Given the description of an element on the screen output the (x, y) to click on. 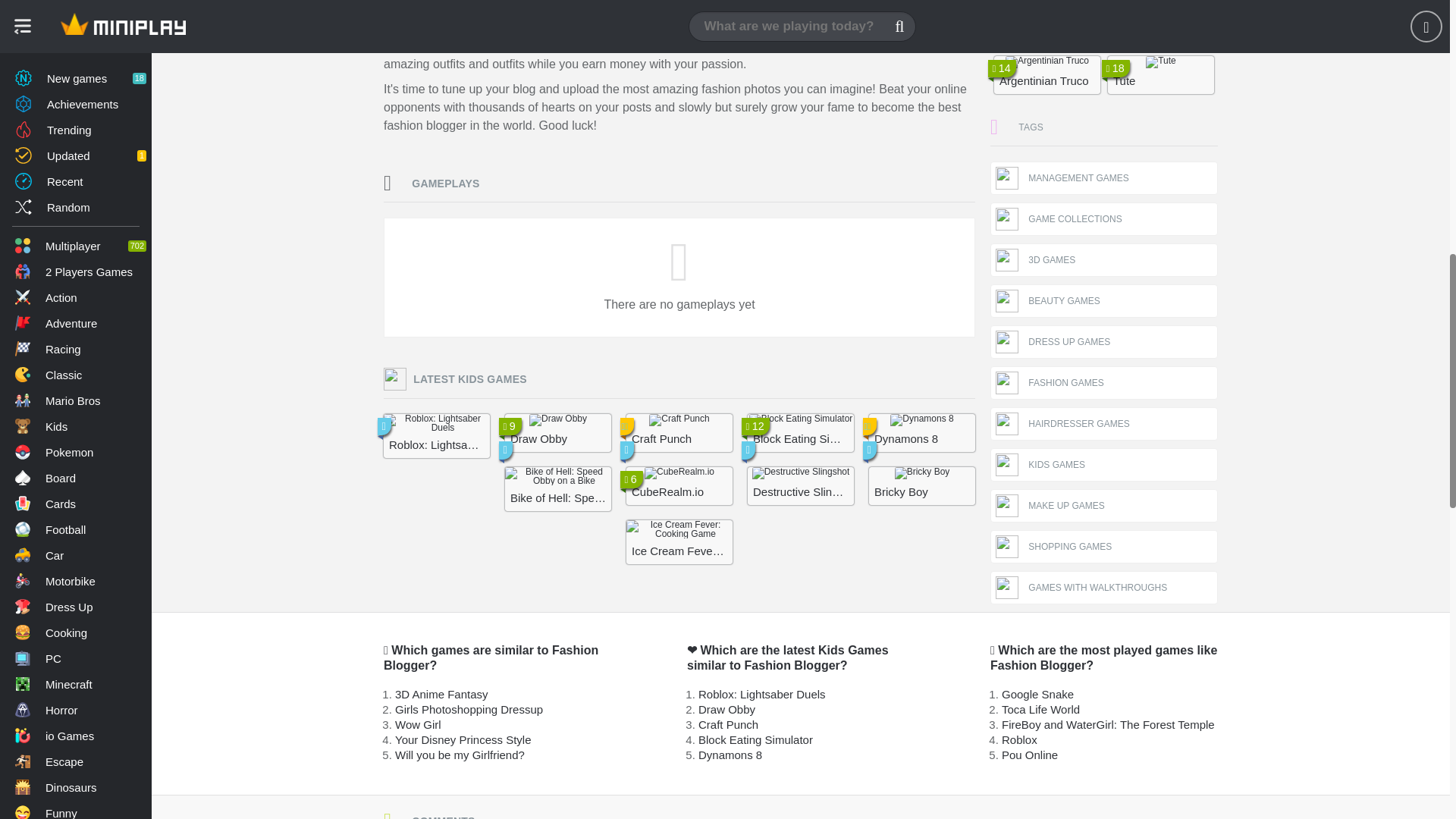
Funny (75, 3)
